Given the description of an element on the screen output the (x, y) to click on. 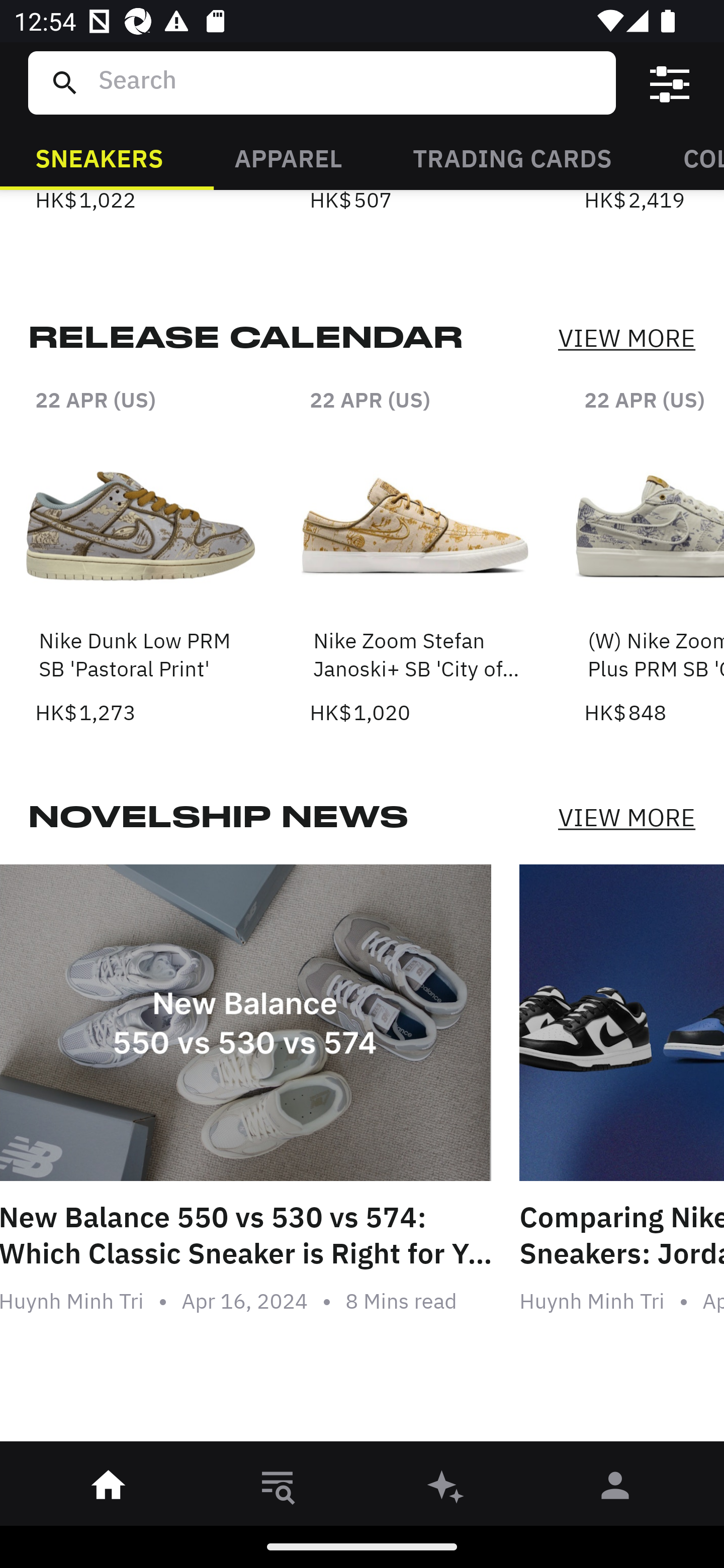
Search (349, 82)
 (669, 82)
SNEAKERS (99, 156)
APPAREL (287, 156)
TRADING CARDS (512, 156)
VIEW MORE (626, 338)
VIEW MORE (626, 816)
󰋜 (108, 1488)
󱎸 (277, 1488)
󰫢 (446, 1488)
󰀄 (615, 1488)
